Given the description of an element on the screen output the (x, y) to click on. 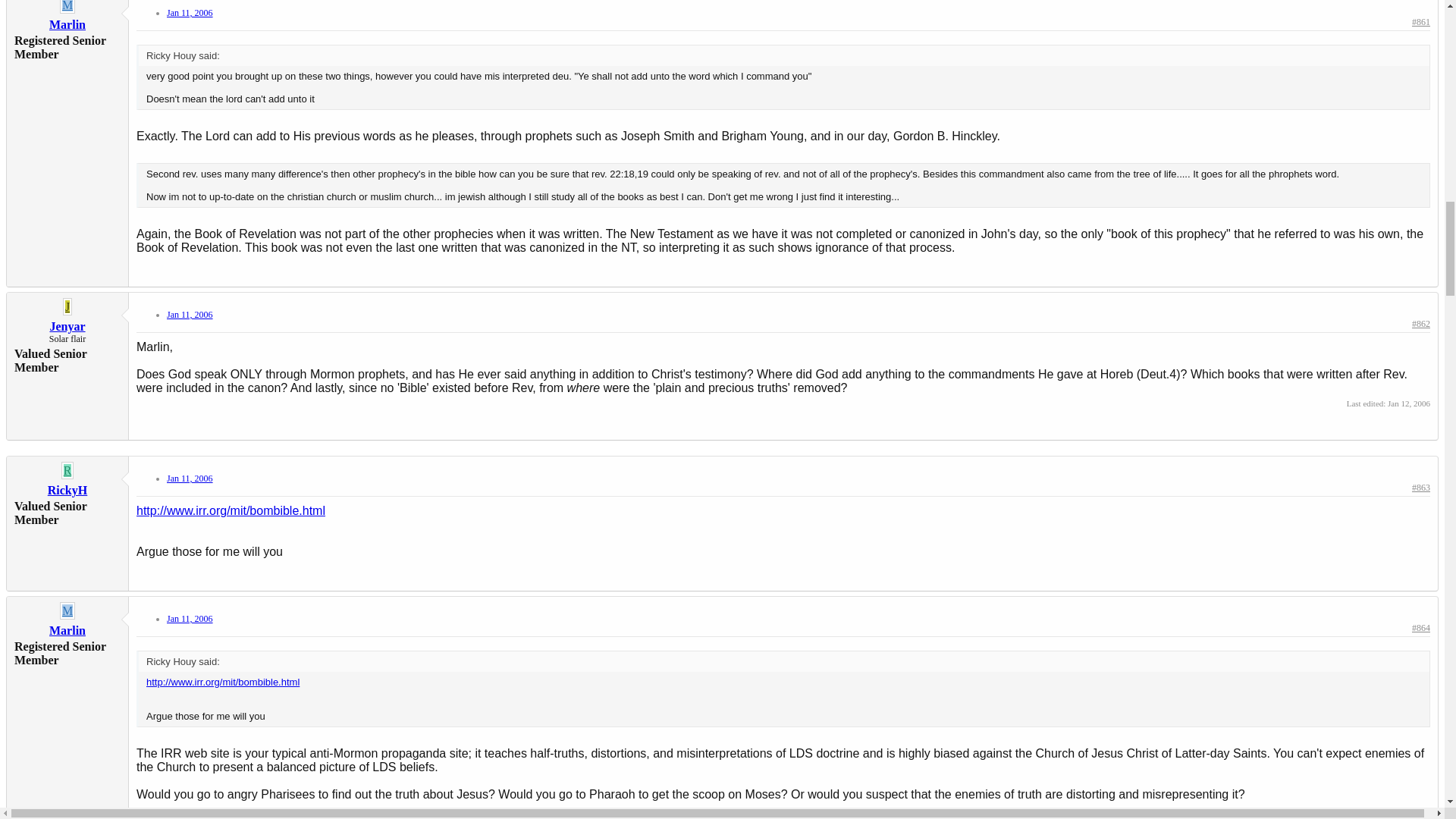
Jan 11, 2006 at 9:04 PM (189, 478)
Jan 11, 2006 at 6:51 PM (189, 12)
Jan 11, 2006 at 8:58 PM (189, 314)
Jan 12, 2006 at 8:51 AM (1408, 402)
